Given the description of an element on the screen output the (x, y) to click on. 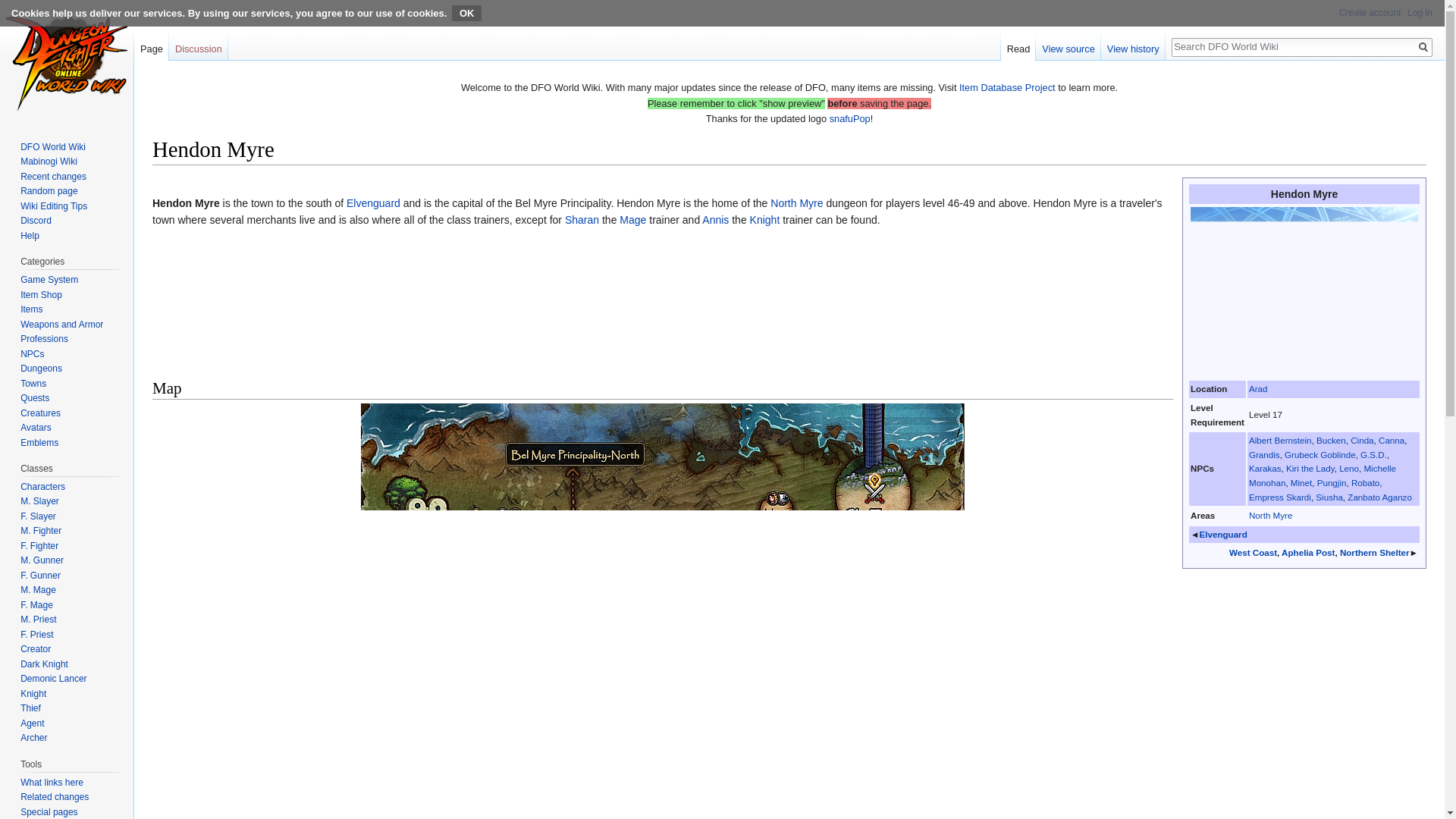
Grandis (1264, 454)
Albert Bernstein (1280, 439)
Empress Skardi (1280, 497)
Michelle Monohan (1322, 475)
Go (1423, 46)
Mage (633, 219)
User:SnafuPop (849, 118)
G.S.D. (1373, 454)
Aphelia Post (1308, 552)
Sharan (581, 219)
